Given the description of an element on the screen output the (x, y) to click on. 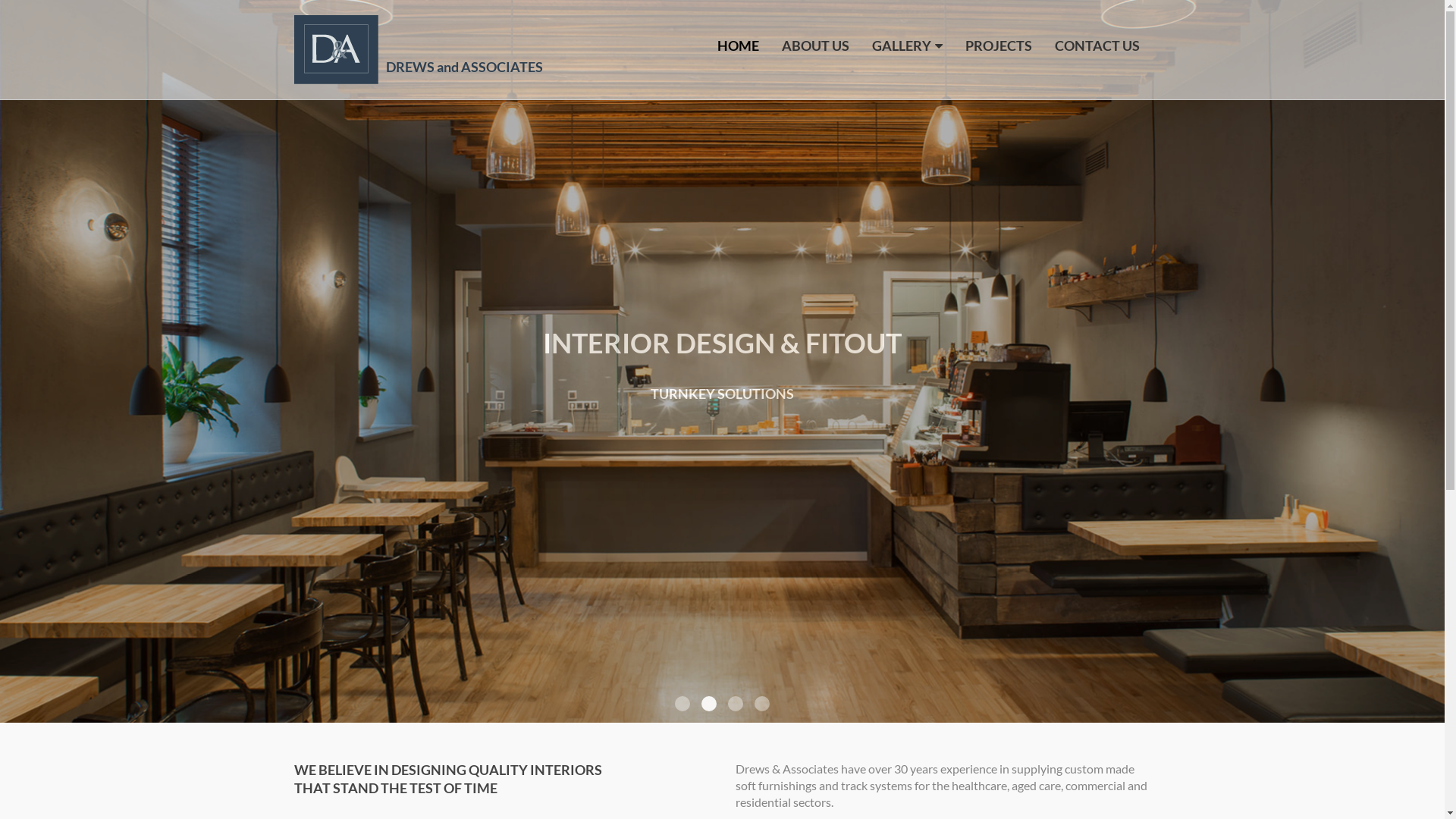
HOME Element type: text (738, 45)
CONTACT US Element type: text (1096, 45)
ABOUT US Element type: text (814, 45)
PROJECTS Element type: text (997, 45)
GALLERY Element type: text (907, 45)
